Given the description of an element on the screen output the (x, y) to click on. 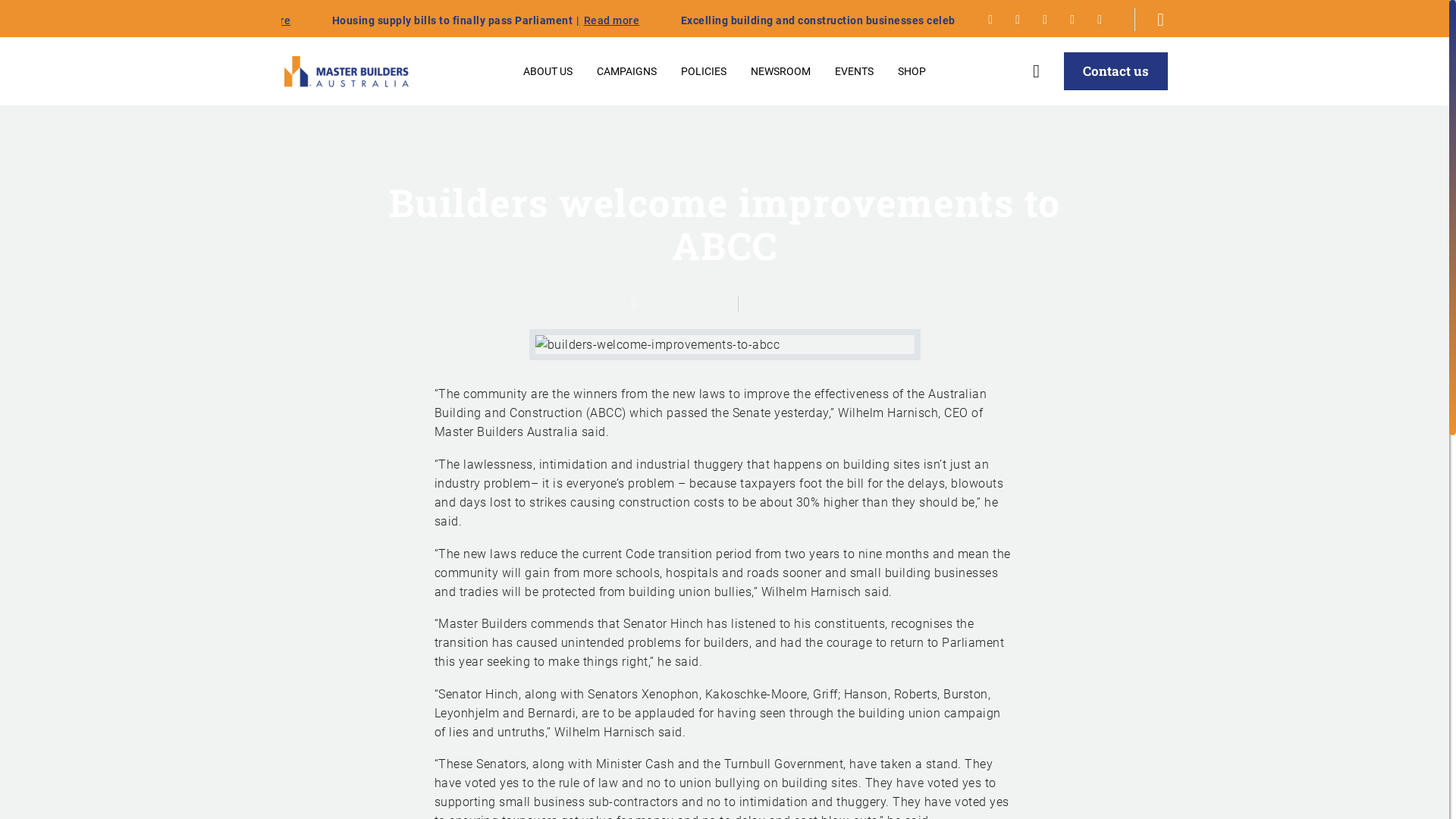
Contact us Element type: text (1115, 71)
Media Release Element type: text (782, 303)
NEWSROOM Element type: text (780, 71)
Instagram Element type: hover (1099, 19)
Twitter Element type: hover (1017, 19)
SHOP Element type: text (911, 71)
ABOUT US Element type: text (547, 71)
Read more Element type: text (409, 19)
Read more Element type: text (1164, 19)
Youtube Element type: hover (1044, 19)
Read more Element type: text (757, 19)
LinkedIn Element type: hover (1072, 19)
Facebook Element type: hover (990, 19)
POLICIES Element type: text (703, 71)
CAMPAIGNS Element type: text (626, 71)
EVENTS Element type: text (853, 71)
